Given the description of an element on the screen output the (x, y) to click on. 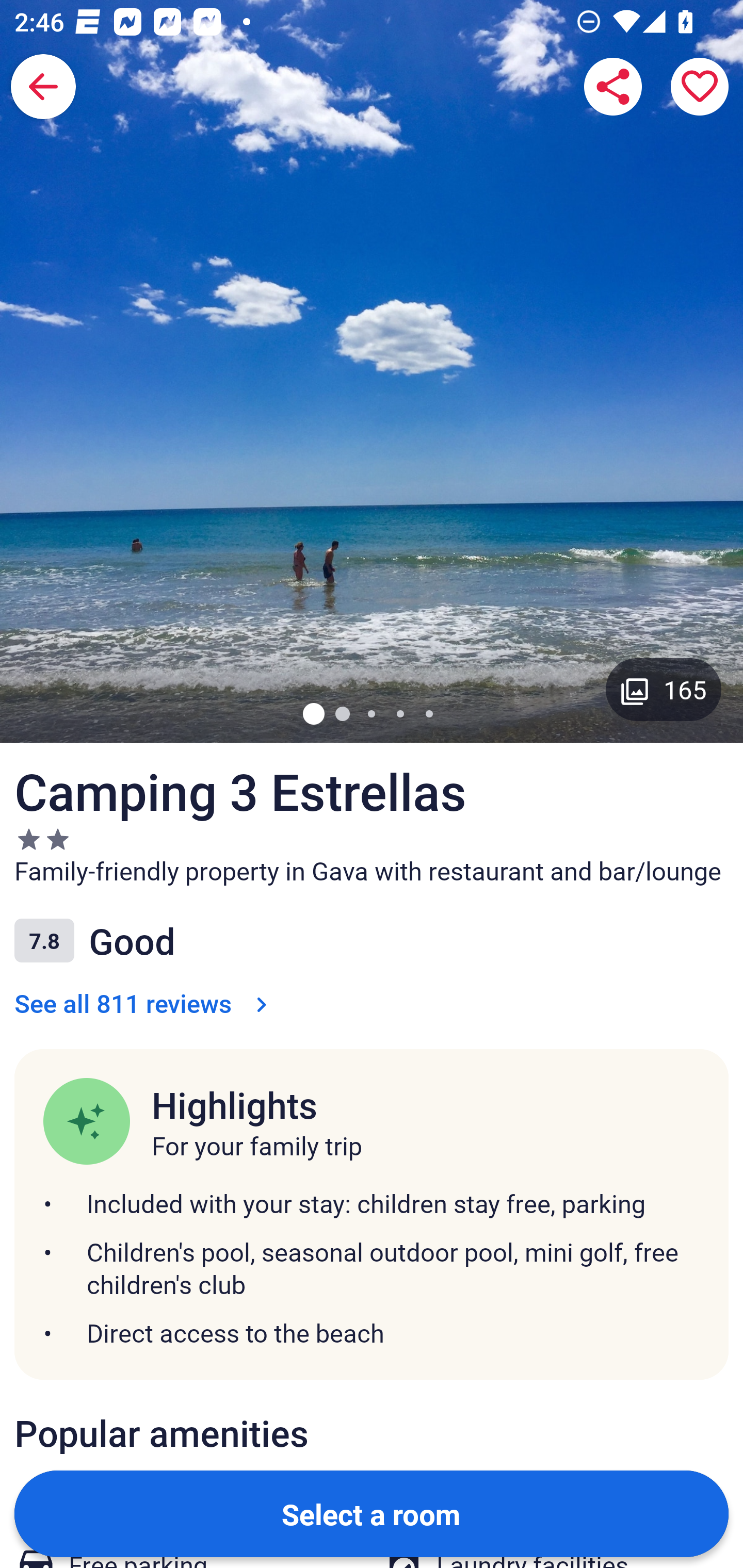
Back (43, 86)
Save property to a trip (699, 86)
Share Camping 3 Estrellas (612, 87)
Gallery button with 165 images (663, 689)
See all 811 reviews See all 811 reviews Link (144, 1002)
Select a room Button Select a room (371, 1513)
